Given the description of an element on the screen output the (x, y) to click on. 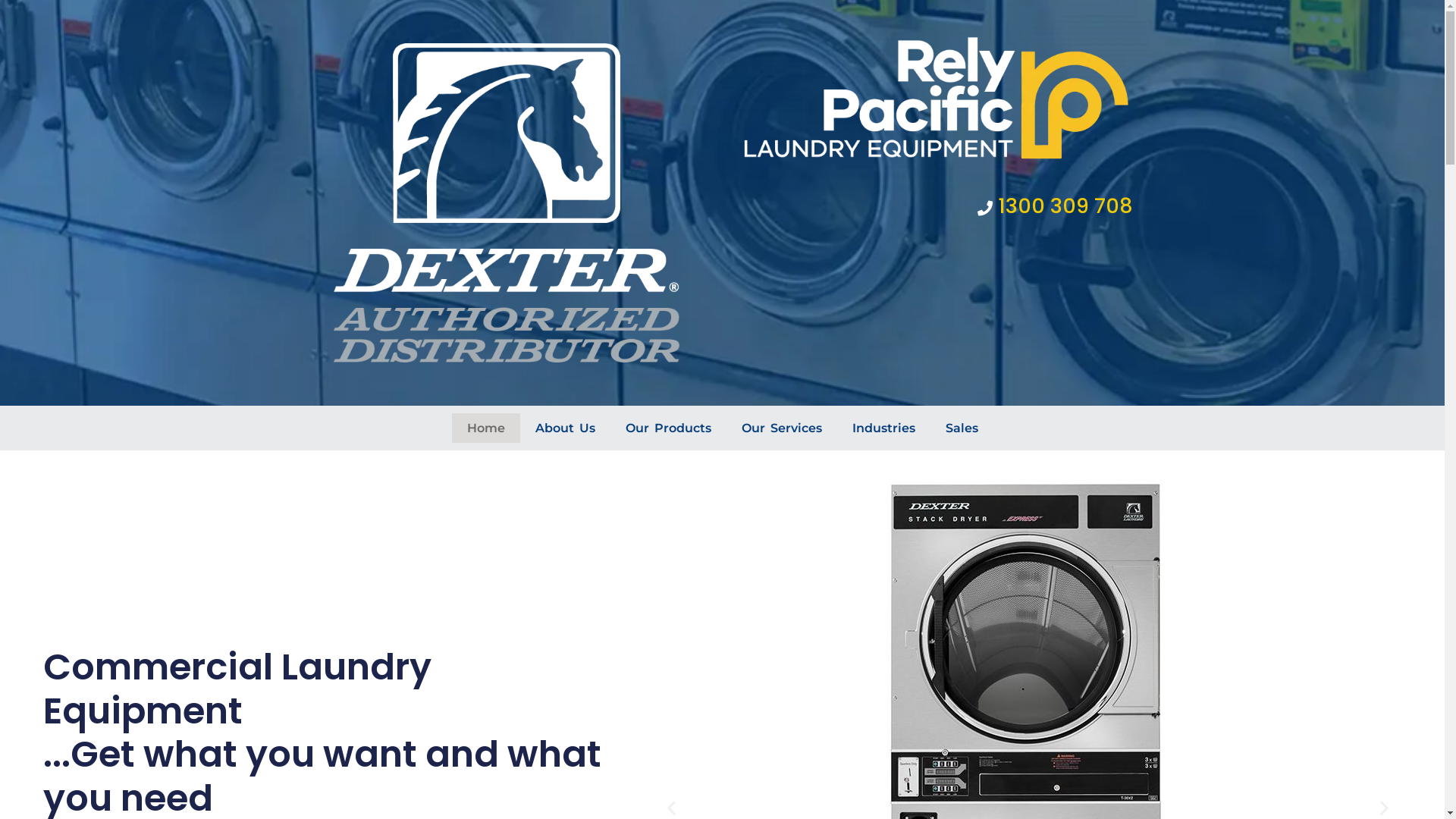
Industries Element type: text (883, 427)
Home Element type: text (485, 427)
Sales Element type: text (960, 427)
About Us Element type: text (565, 427)
Our Products Element type: text (667, 427)
Our Services Element type: text (781, 427)
